Given the description of an element on the screen output the (x, y) to click on. 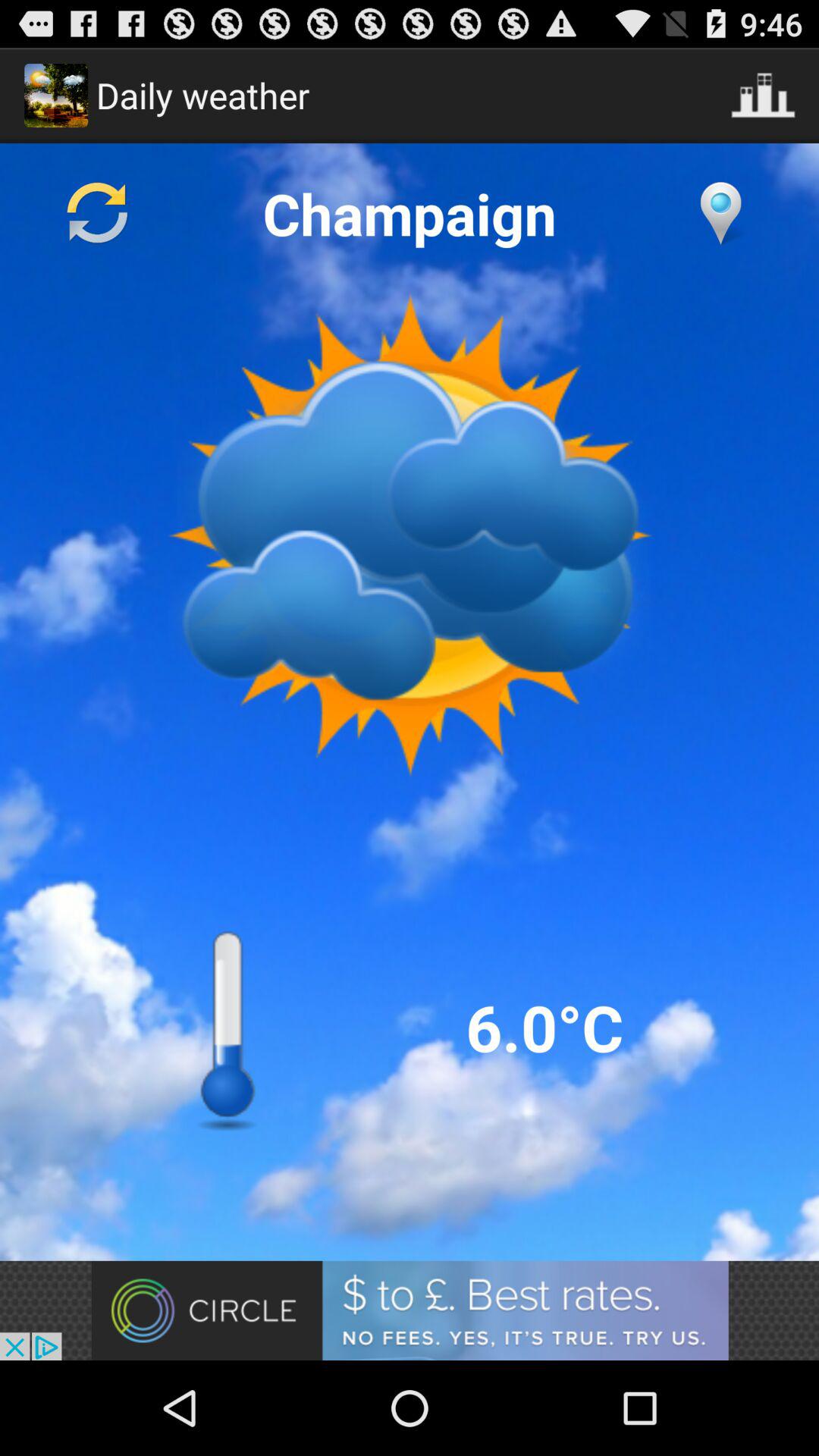
select location (720, 213)
